Given the description of an element on the screen output the (x, y) to click on. 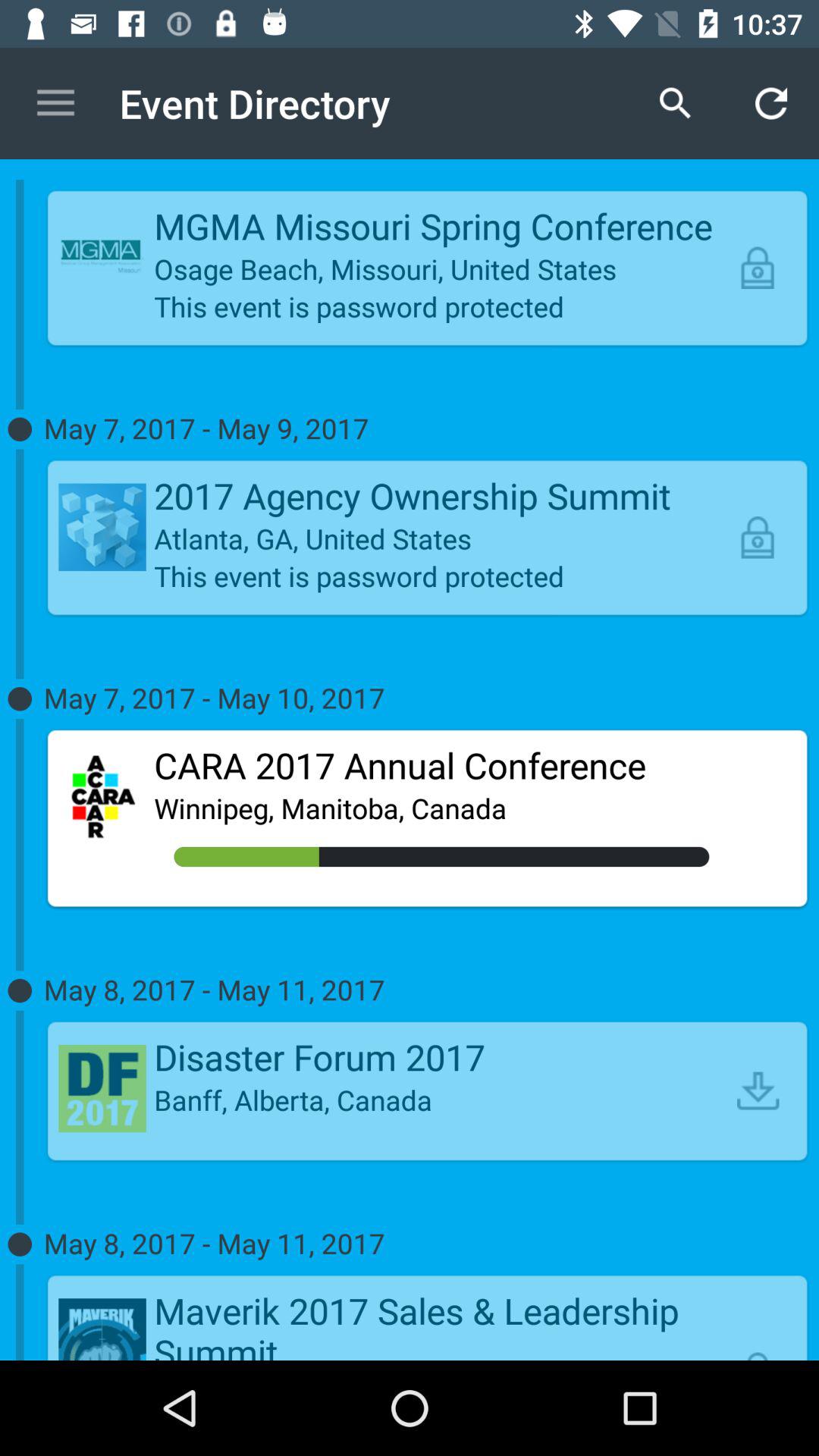
launch icon above winnipeg, manitoba, canada icon (441, 765)
